Given the description of an element on the screen output the (x, y) to click on. 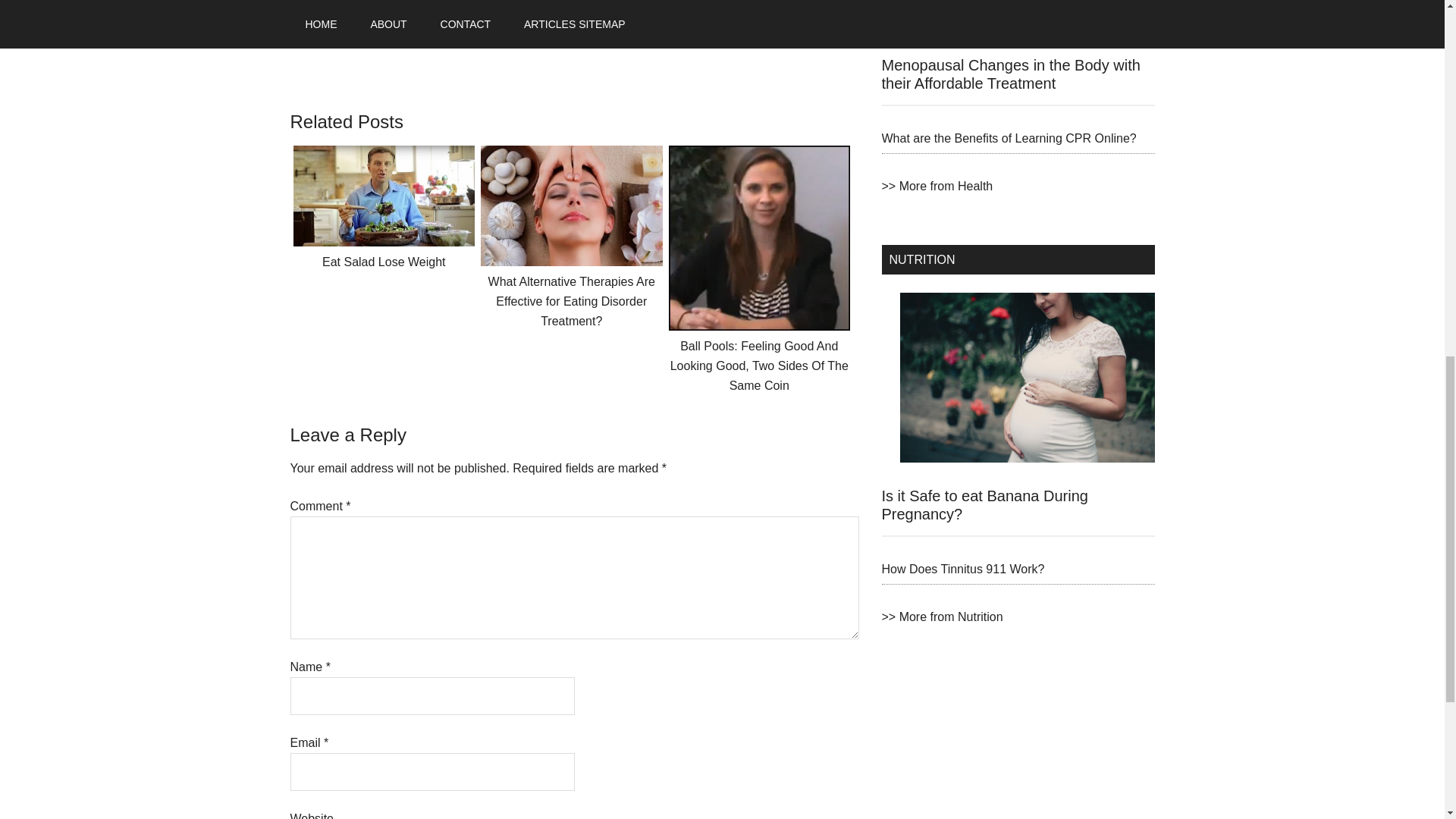
Nutrition (941, 616)
What are the Benefits of Learning CPR Online? (1007, 137)
How Does Tinnitus 911 Work? (961, 568)
The Future of Food (400, 39)
Wellbeing Videos (391, 21)
Health (936, 185)
Is it Safe to eat Banana During Pregnancy? (983, 504)
